Given the description of an element on the screen output the (x, y) to click on. 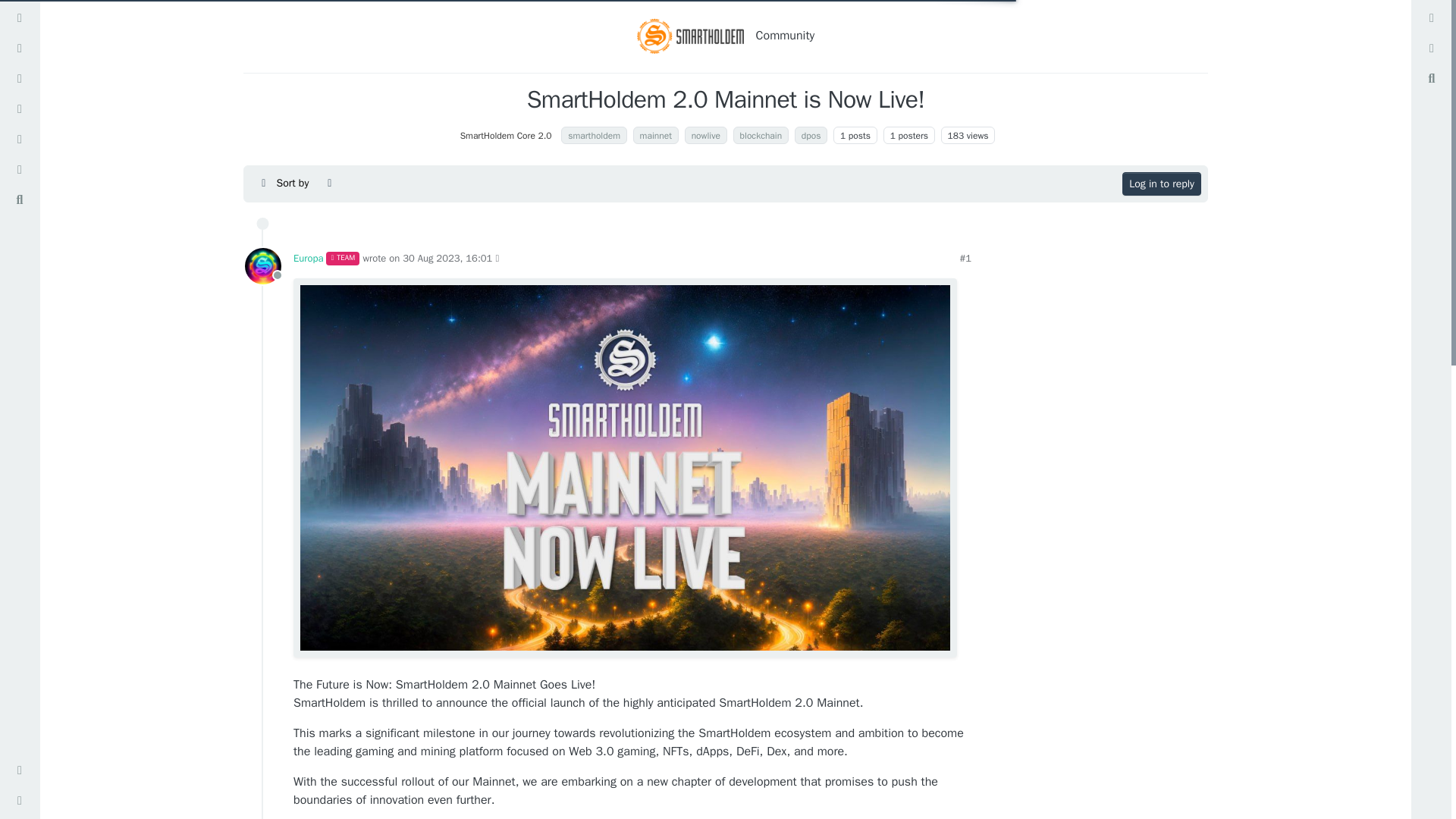
183 (955, 135)
Community (785, 36)
30 Aug 2023, 16:01 (447, 257)
Europa (262, 266)
SmartHoldem Core 2.0 (506, 134)
